Given the description of an element on the screen output the (x, y) to click on. 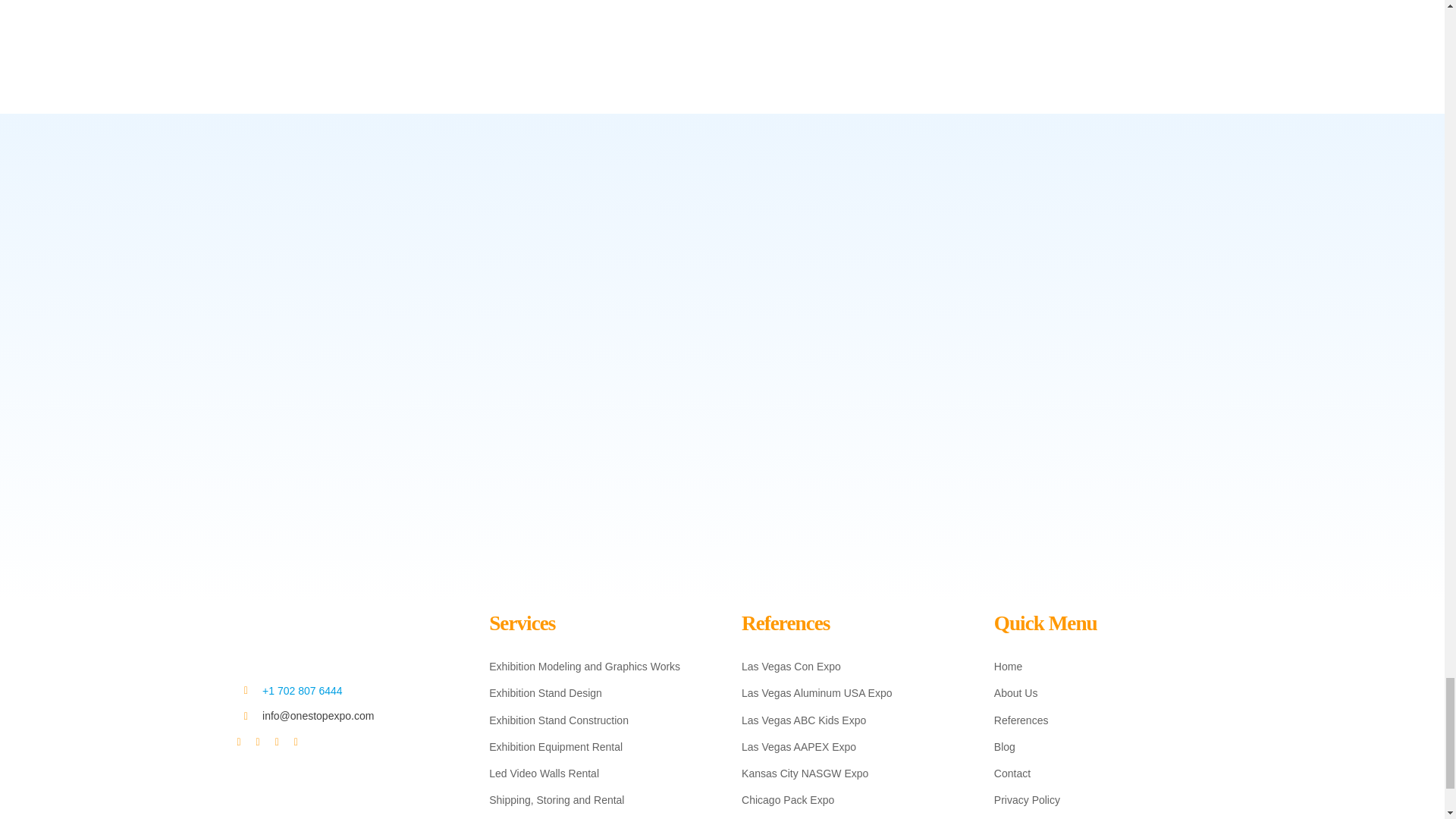
Post Comment (305, 7)
